Given the description of an element on the screen output the (x, y) to click on. 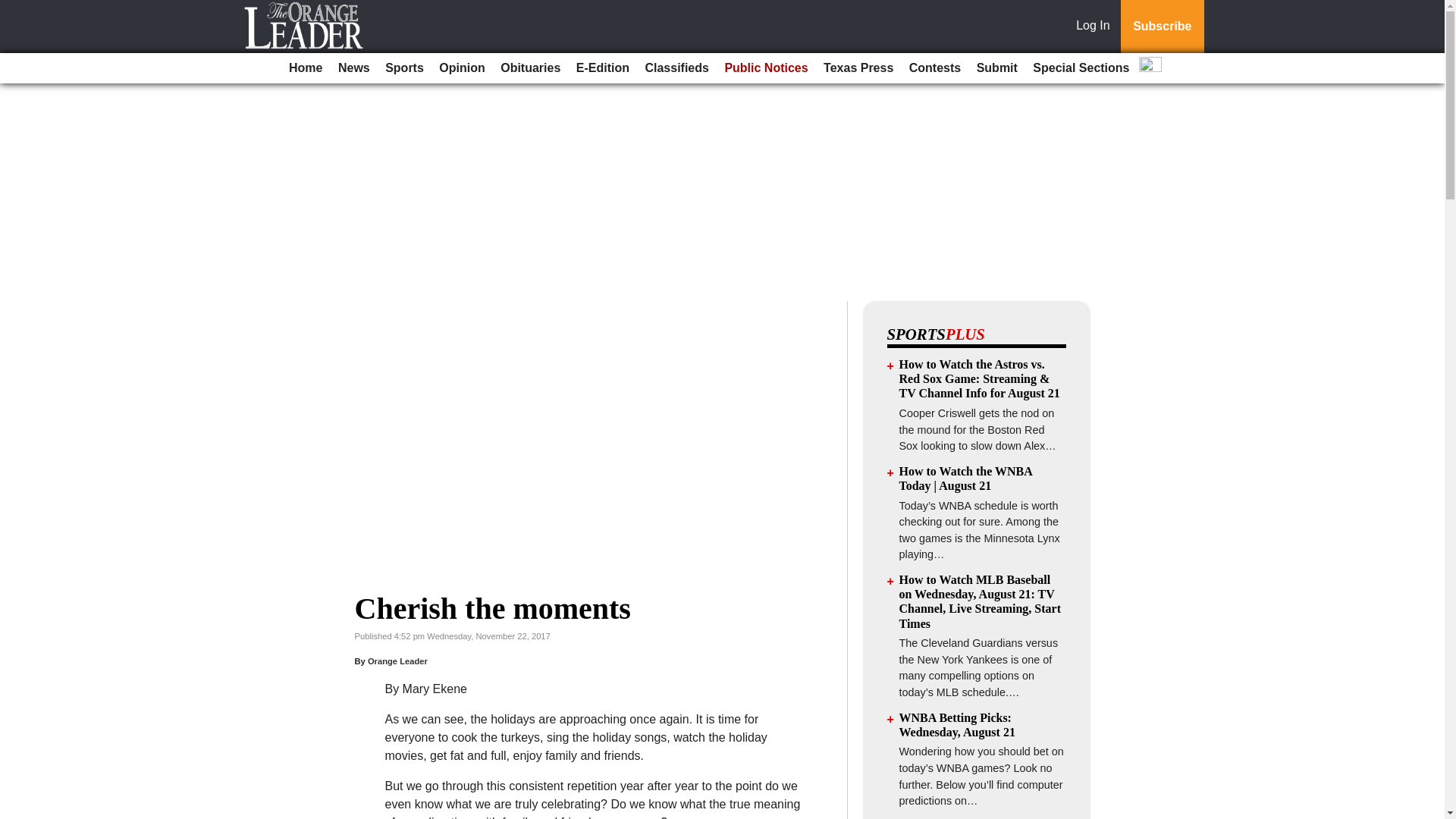
News (353, 68)
Public Notices (765, 68)
Opinion (461, 68)
Sports (403, 68)
Classifieds (676, 68)
Subscribe (1162, 26)
WNBA Betting Picks: Wednesday, August 21 (956, 724)
Submit (997, 68)
Special Sections (1080, 68)
